Given the description of an element on the screen output the (x, y) to click on. 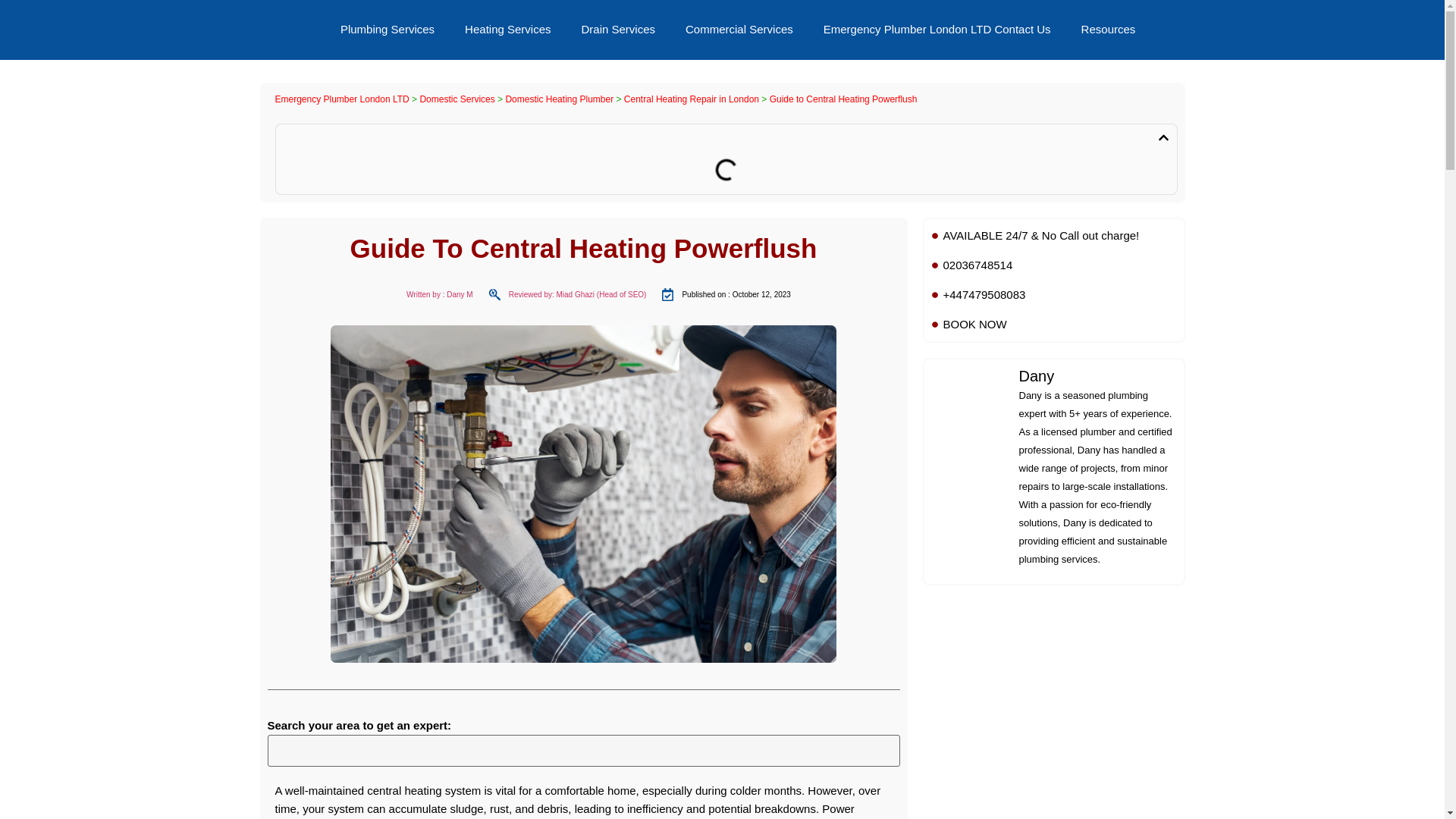
Heating Services (507, 29)
Plumbing Services (386, 29)
Drain Services (617, 29)
